Given the description of an element on the screen output the (x, y) to click on. 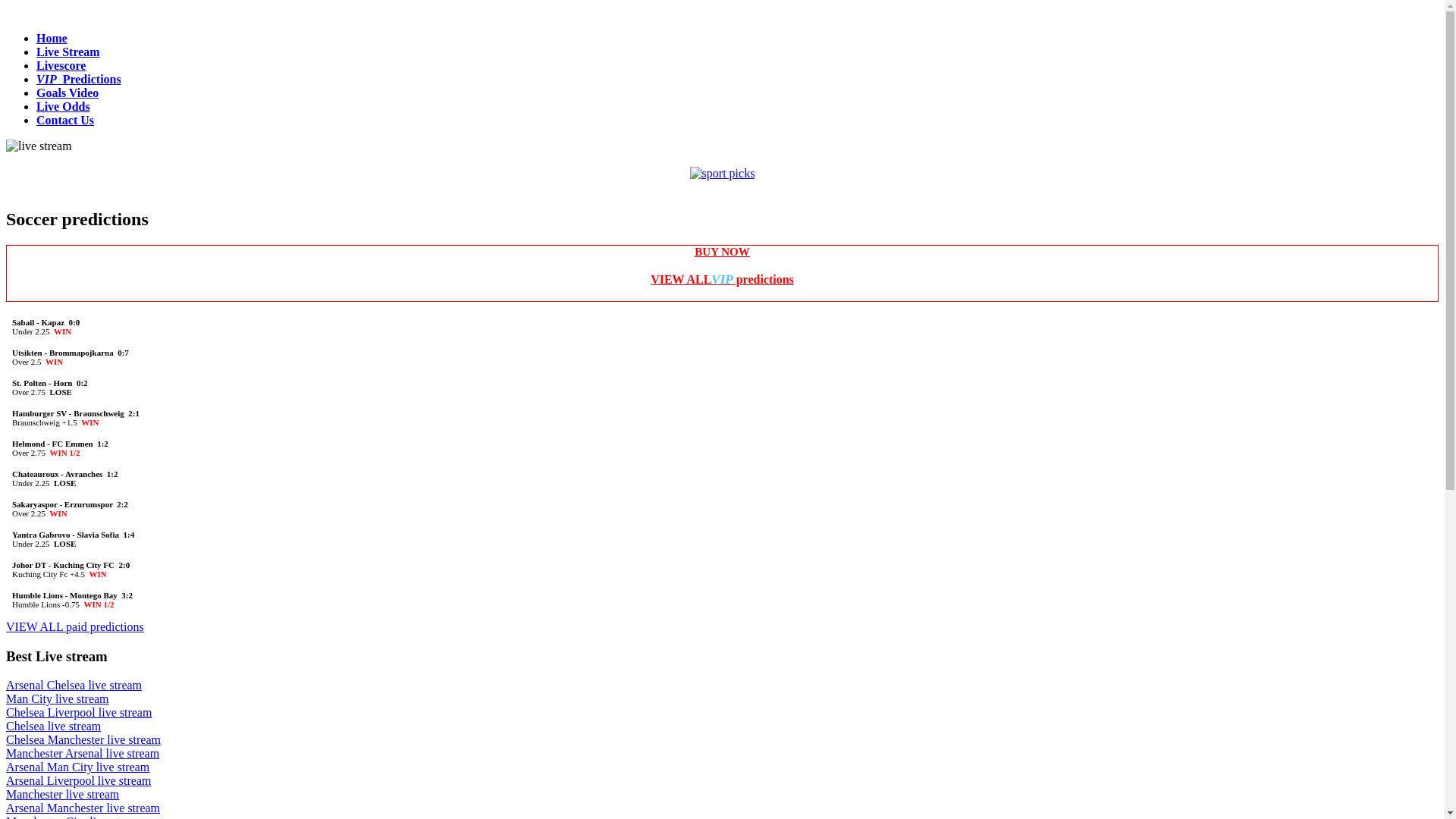
VIP  Predictions Element type: text (78, 78)
Chelsea live stream Element type: text (53, 725)
Live Stream Element type: text (68, 51)
Livescore Element type: text (60, 65)
Home Element type: text (51, 37)
VIEW ALL paid predictions Element type: text (75, 626)
Goals Video Element type: text (67, 92)
Live Odds Element type: text (63, 106)
Arsenal Chelsea live stream Element type: text (73, 684)
Chelsea Manchester live stream Element type: text (83, 739)
Manchester Arsenal live stream Element type: text (82, 752)
Arsenal Liverpool live stream Element type: text (78, 780)
BUY NOW Element type: text (721, 251)
Man City live stream Element type: text (57, 698)
Chelsea Liverpool live stream Element type: text (78, 712)
Arsenal Manchester live stream Element type: text (83, 807)
VIEW ALLVIP predictions Element type: text (721, 279)
Arsenal Man City live stream Element type: text (77, 766)
Contact Us Element type: text (65, 119)
Manchester live stream Element type: text (62, 793)
